Given the description of an element on the screen output the (x, y) to click on. 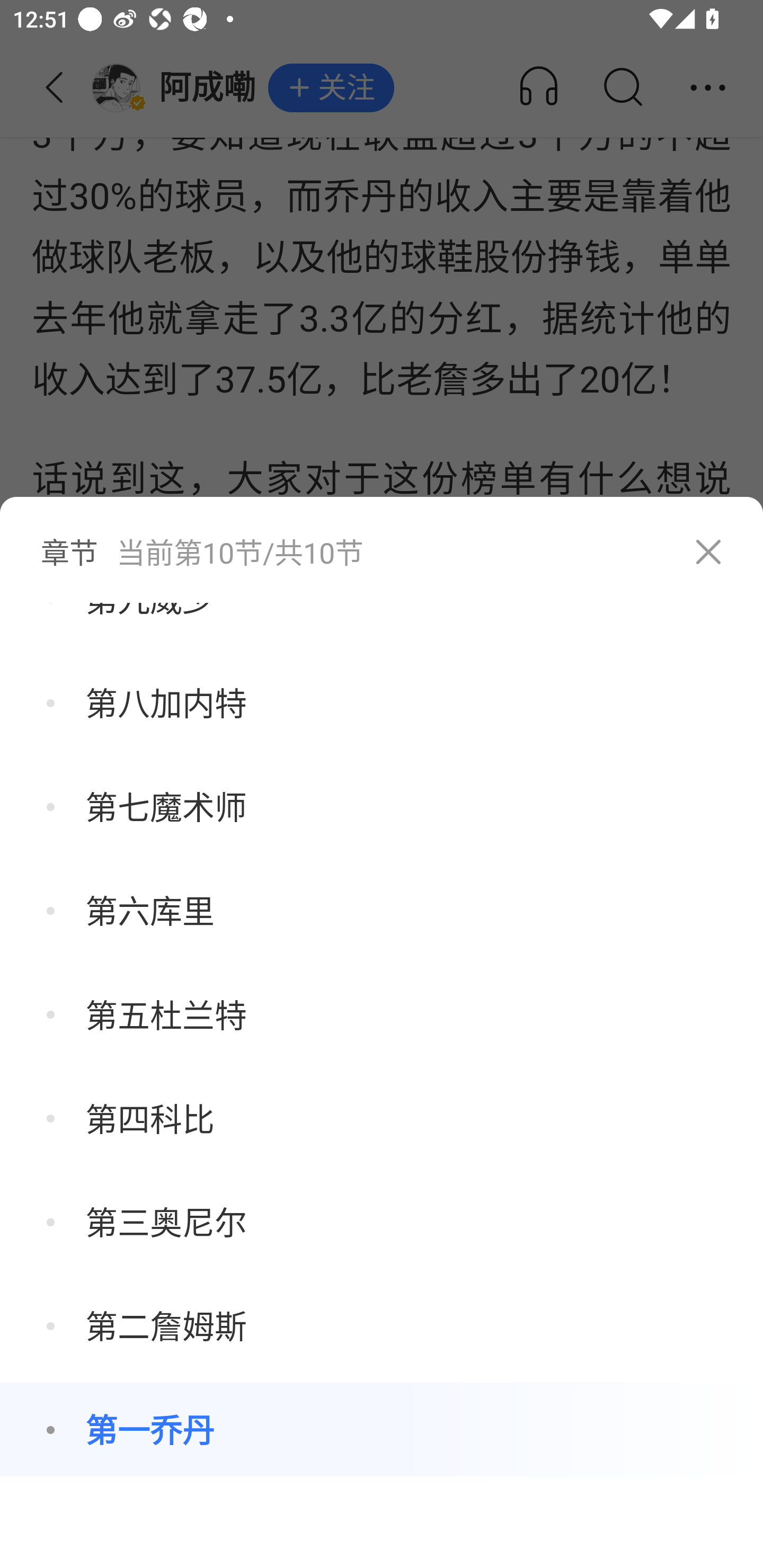
第八加内特   (381, 702)
第八加内特   (381, 702)
第七魔术师   (381, 805)
第六库里   (381, 909)
第五杜兰特   (381, 1014)
第四科比   (381, 1117)
第三奥尼尔   (381, 1221)
第二詹姆斯   (381, 1325)
第一乔丹   (381, 1429)
